Given the description of an element on the screen output the (x, y) to click on. 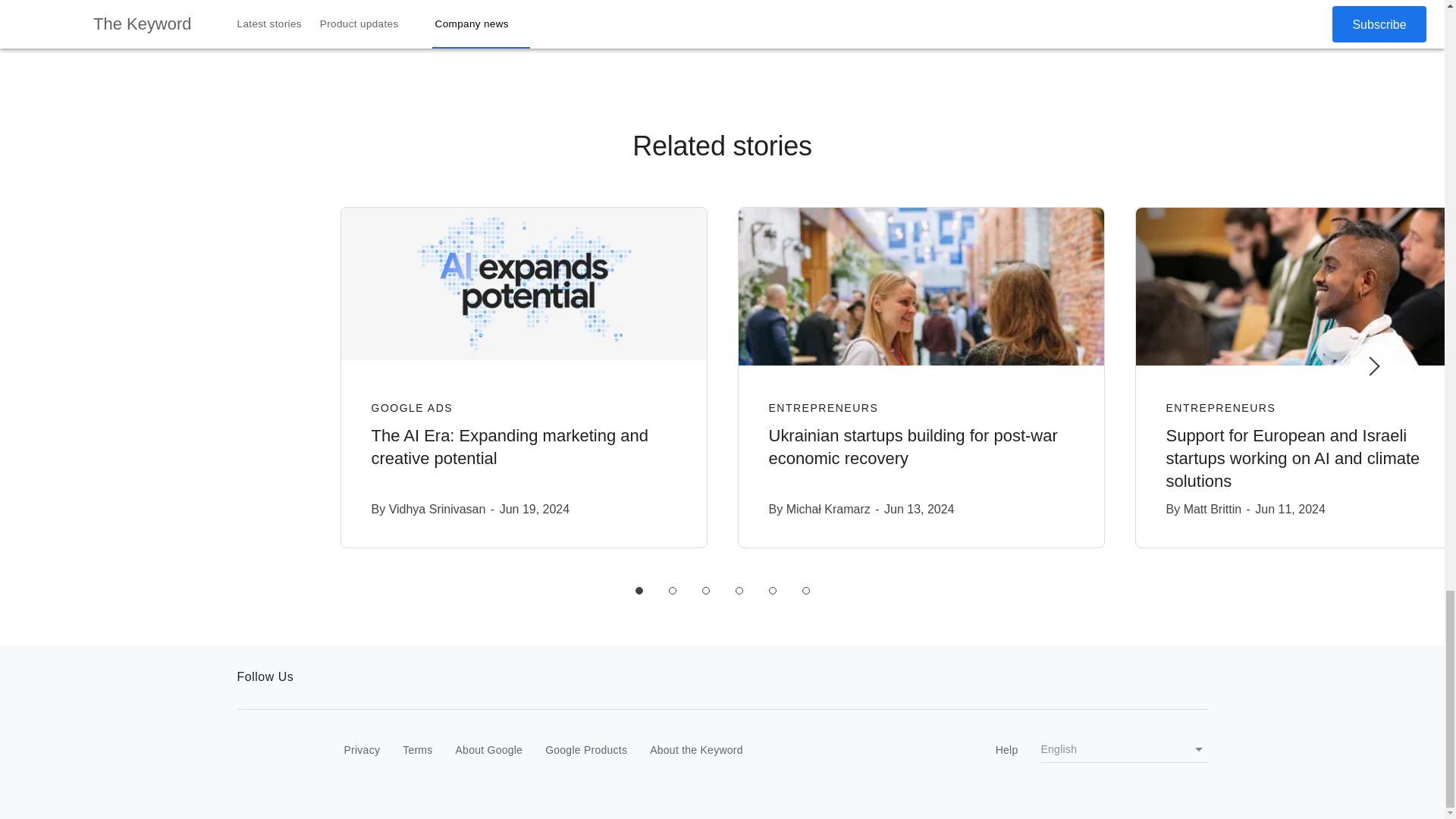
Google (268, 750)
